Given the description of an element on the screen output the (x, y) to click on. 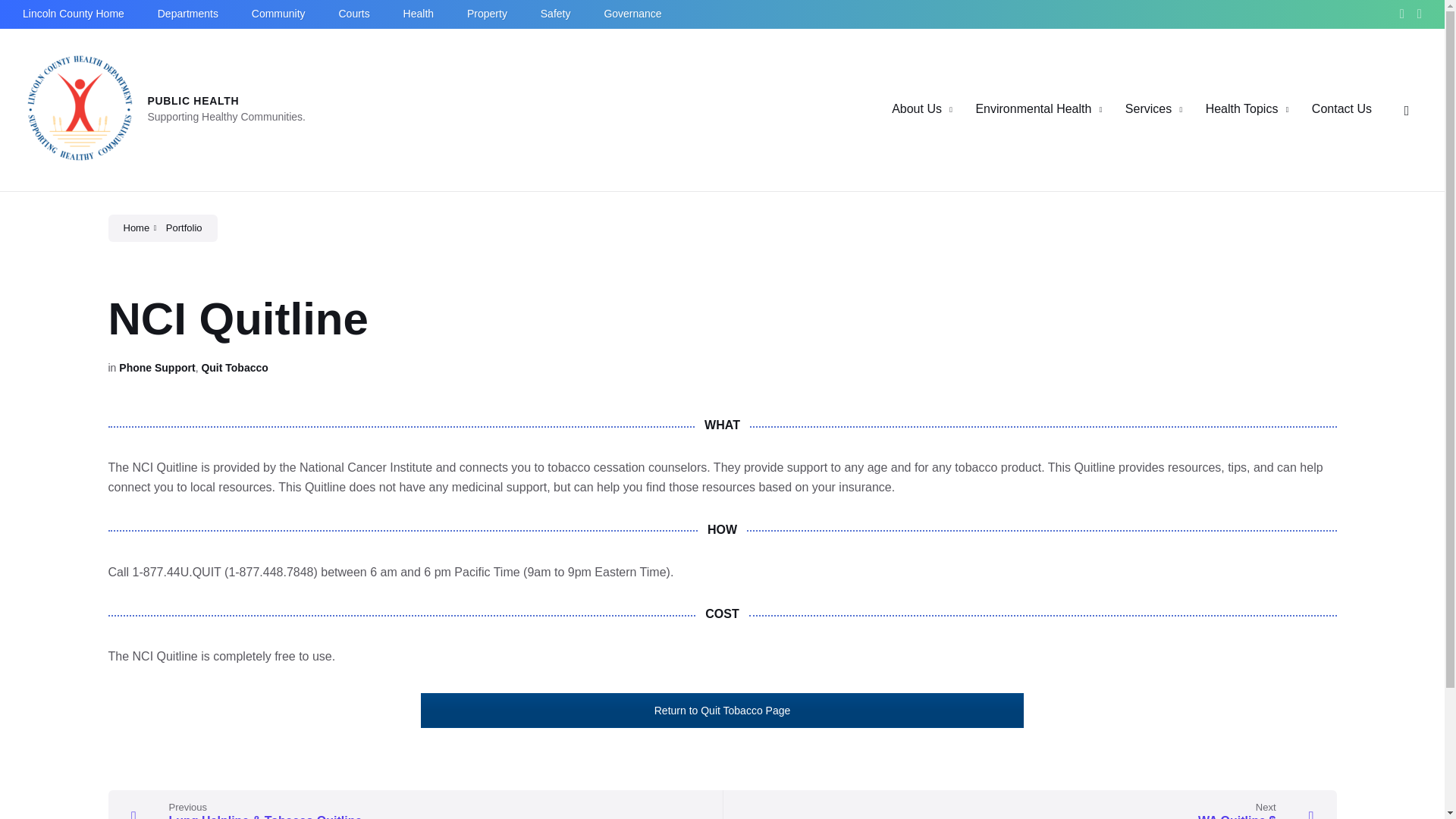
Safety (555, 13)
Community (278, 13)
PUBLIC HEALTH (192, 101)
Governance (632, 13)
Property (486, 13)
Lincoln County Home (73, 13)
Environmental Health (1032, 109)
Social Media Links (1406, 14)
About Us (916, 109)
Courts (353, 13)
